Given the description of an element on the screen output the (x, y) to click on. 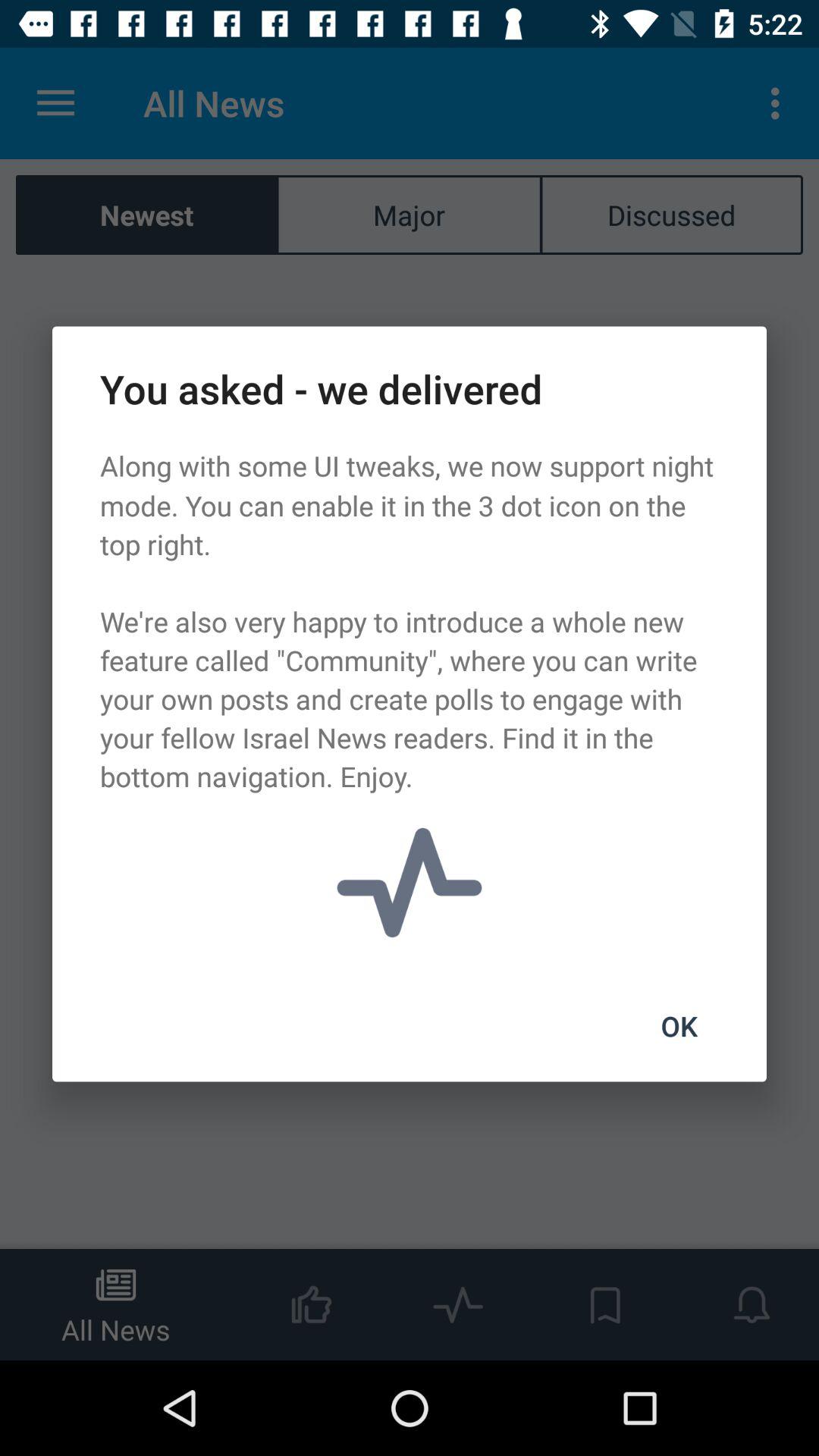
tap the icon below the along with some (678, 1025)
